Given the description of an element on the screen output the (x, y) to click on. 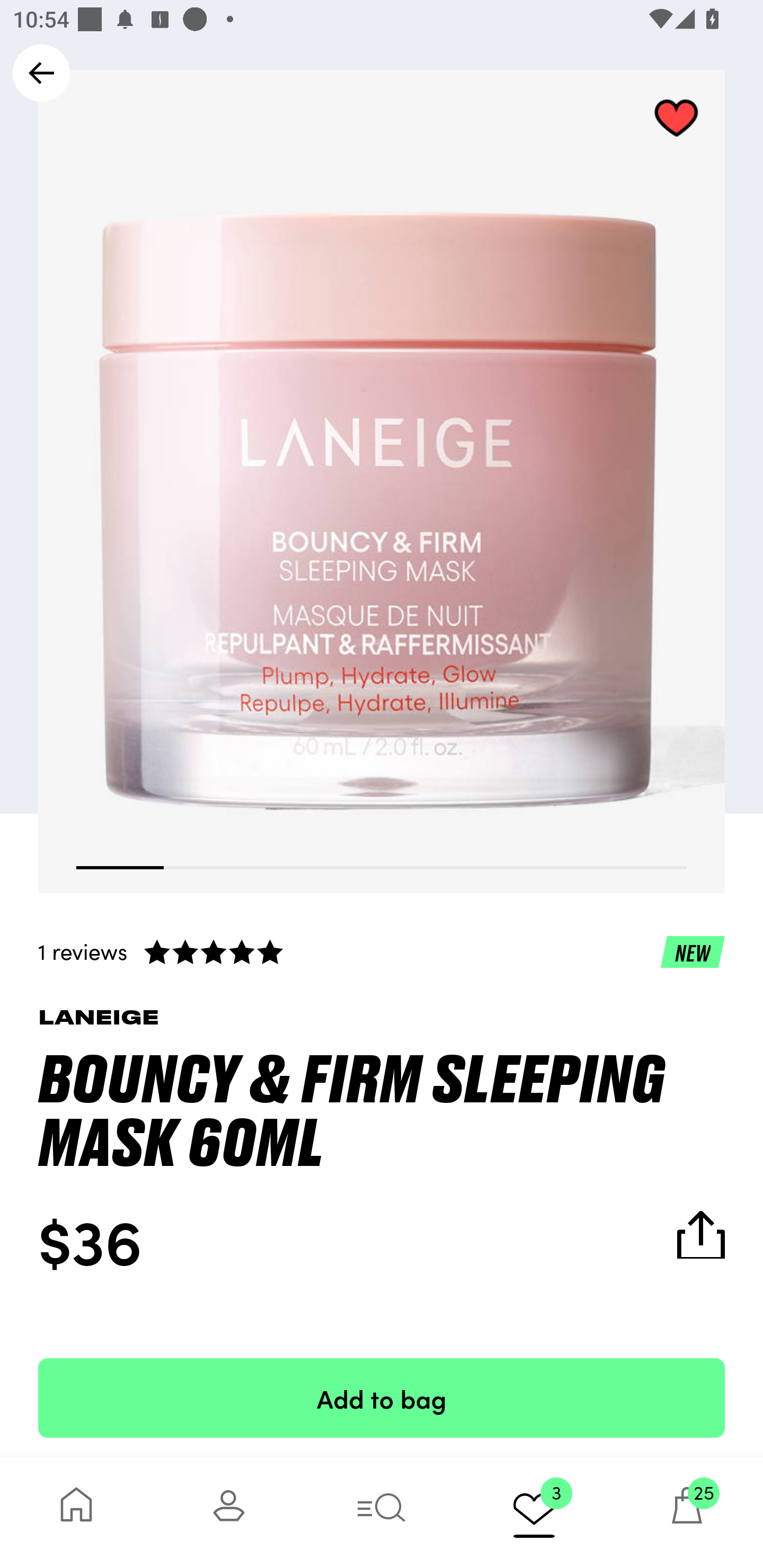
1 reviews (381, 950)
Add to bag (381, 1397)
3 (533, 1512)
25 (686, 1512)
